Given the description of an element on the screen output the (x, y) to click on. 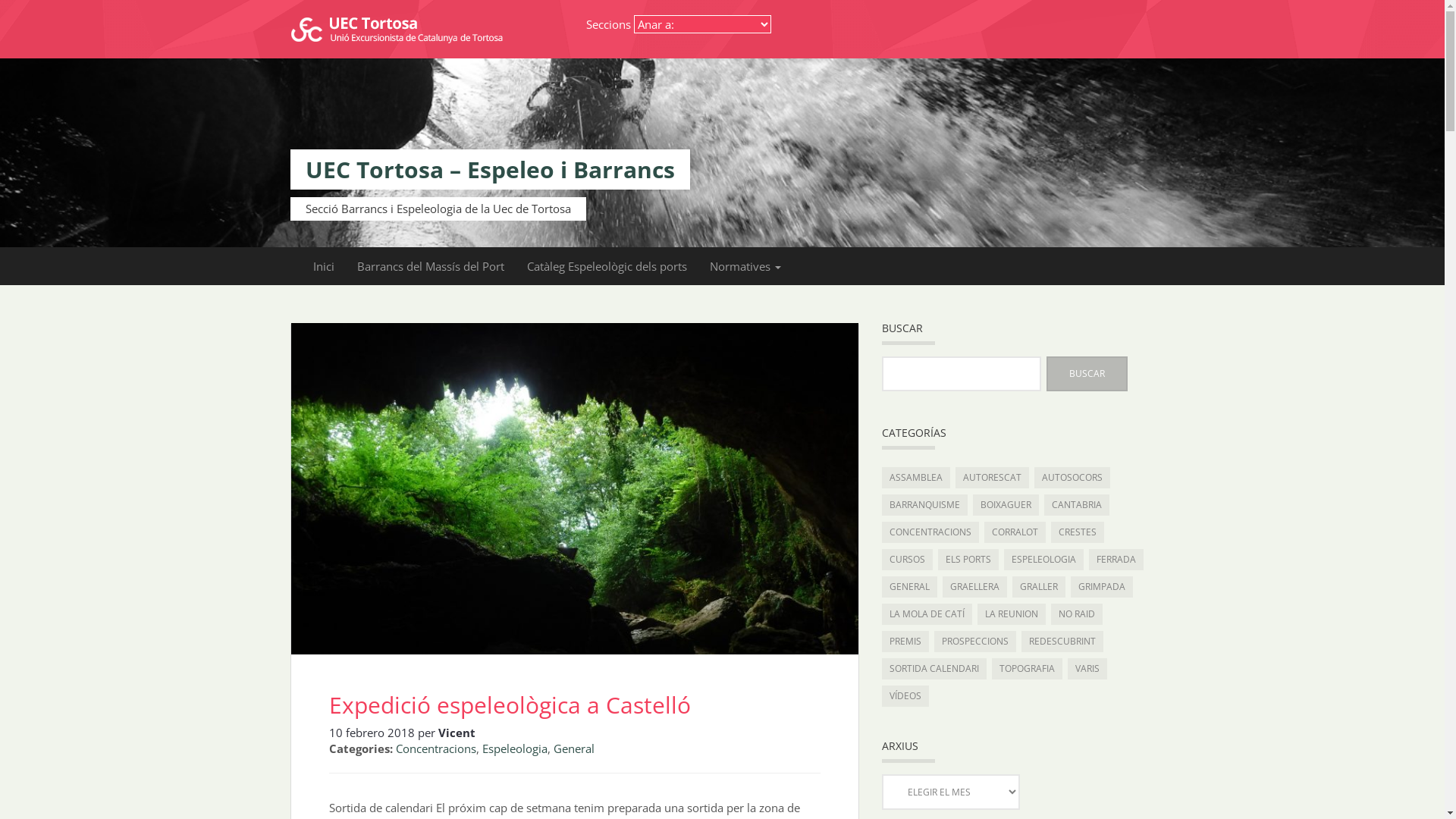
General Element type: text (573, 748)
Espeleologia Element type: text (514, 748)
CORRALOT Element type: text (1014, 531)
TOPOGRAFIA Element type: text (1026, 668)
NO RAID Element type: text (1076, 613)
GRAELLERA Element type: text (973, 586)
FERRADA Element type: text (1115, 559)
CANTABRIA Element type: text (1075, 504)
GRALLER Element type: text (1037, 586)
AUTOSOCORS Element type: text (1072, 477)
AUTORESCAT Element type: text (992, 477)
Normatives Element type: text (744, 266)
ESPELEOLOGIA Element type: text (1043, 559)
Buscar Element type: text (1086, 373)
BOIXAGUER Element type: text (1005, 504)
LA REUNION Element type: text (1010, 613)
PROSPECCIONS Element type: text (975, 641)
CURSOS Element type: text (906, 559)
Inici Element type: text (323, 266)
CONCENTRACIONS Element type: text (929, 531)
VARIS Element type: text (1087, 668)
GRIMPADA Element type: text (1101, 586)
PREMIS Element type: text (904, 641)
ASSAMBLEA Element type: text (915, 477)
CRESTES Element type: text (1077, 531)
ELS PORTS Element type: text (967, 559)
GENERAL Element type: text (908, 586)
BARRANQUISME Element type: text (923, 504)
SORTIDA CALENDARI Element type: text (933, 668)
Concentracions Element type: text (435, 748)
REDESCUBRINT Element type: text (1061, 641)
